Given the description of an element on the screen output the (x, y) to click on. 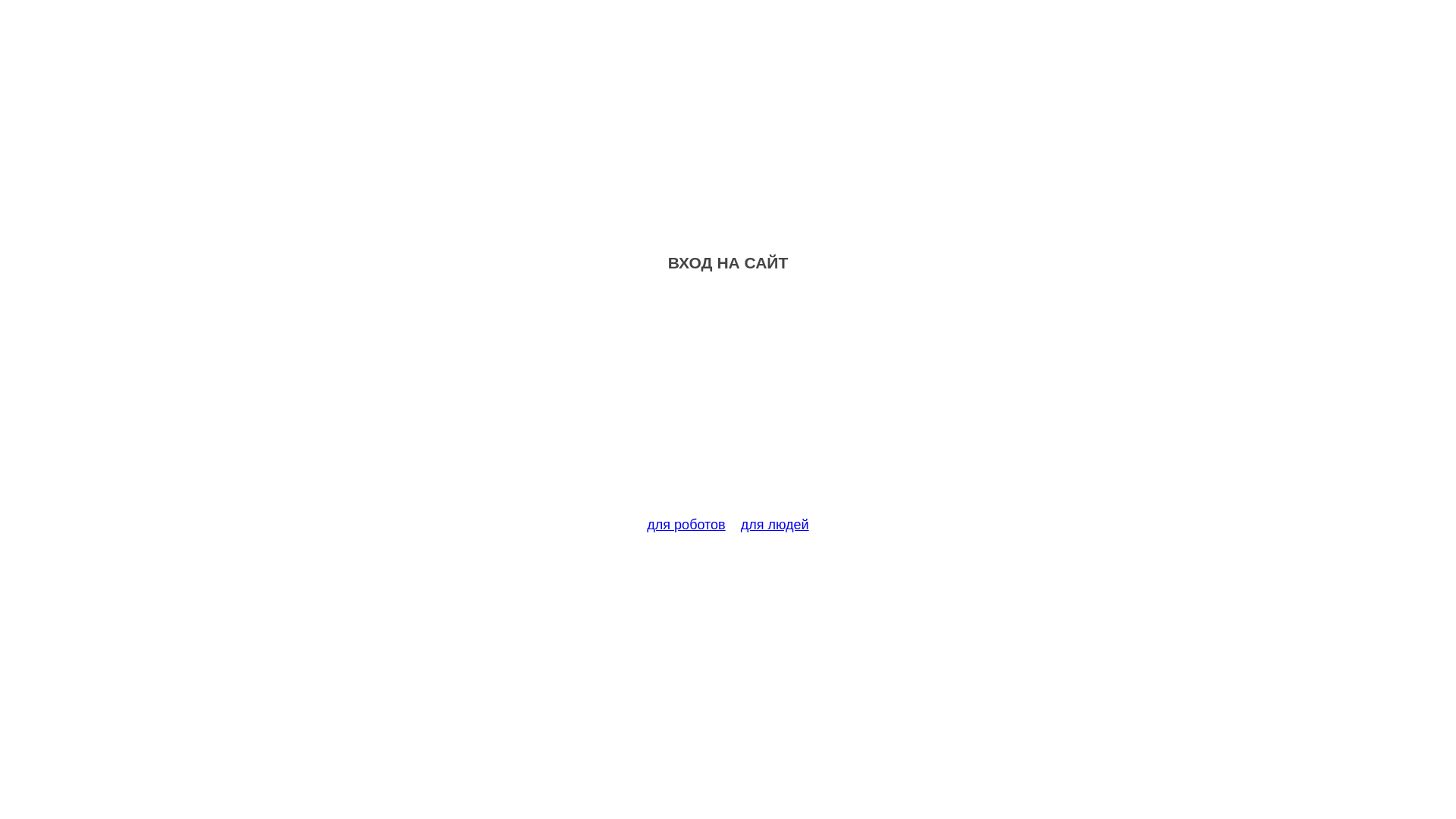
Advertisement Element type: hover (727, 403)
